Given the description of an element on the screen output the (x, y) to click on. 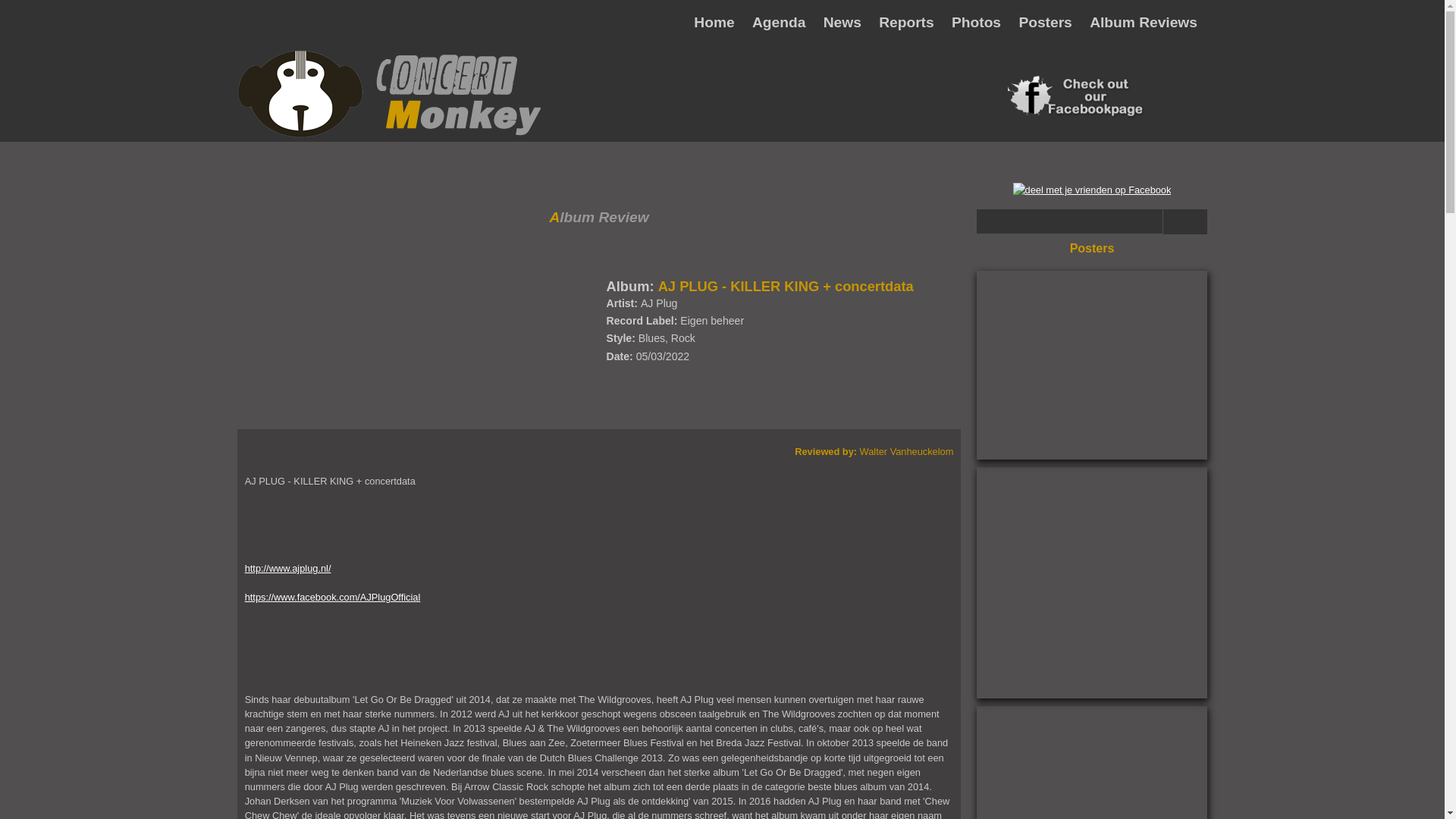
Album Reviews Element type: text (1143, 22)
Home Element type: hover (388, 134)
Reports Element type: text (906, 22)
Democrazy  gigs Element type: hover (1092, 582)
Posters Element type: text (1044, 22)
Search Element type: text (1185, 221)
News Element type: text (842, 22)
Agenda Element type: text (778, 22)
deel met je vrienden op Facebook Element type: hover (1092, 189)
Blues Promotion Dongen Element type: hover (1092, 364)
Photos Element type: text (976, 22)
Enter the terms you wish to search for. Element type: hover (1069, 221)
https://www.facebook.com/AJPlugOfficial Element type: text (332, 596)
Home Element type: text (713, 22)
Go and like our Facebookpage Element type: hover (1075, 114)
http://www.ajplug.nl/ Element type: text (287, 568)
